Given the description of an element on the screen output the (x, y) to click on. 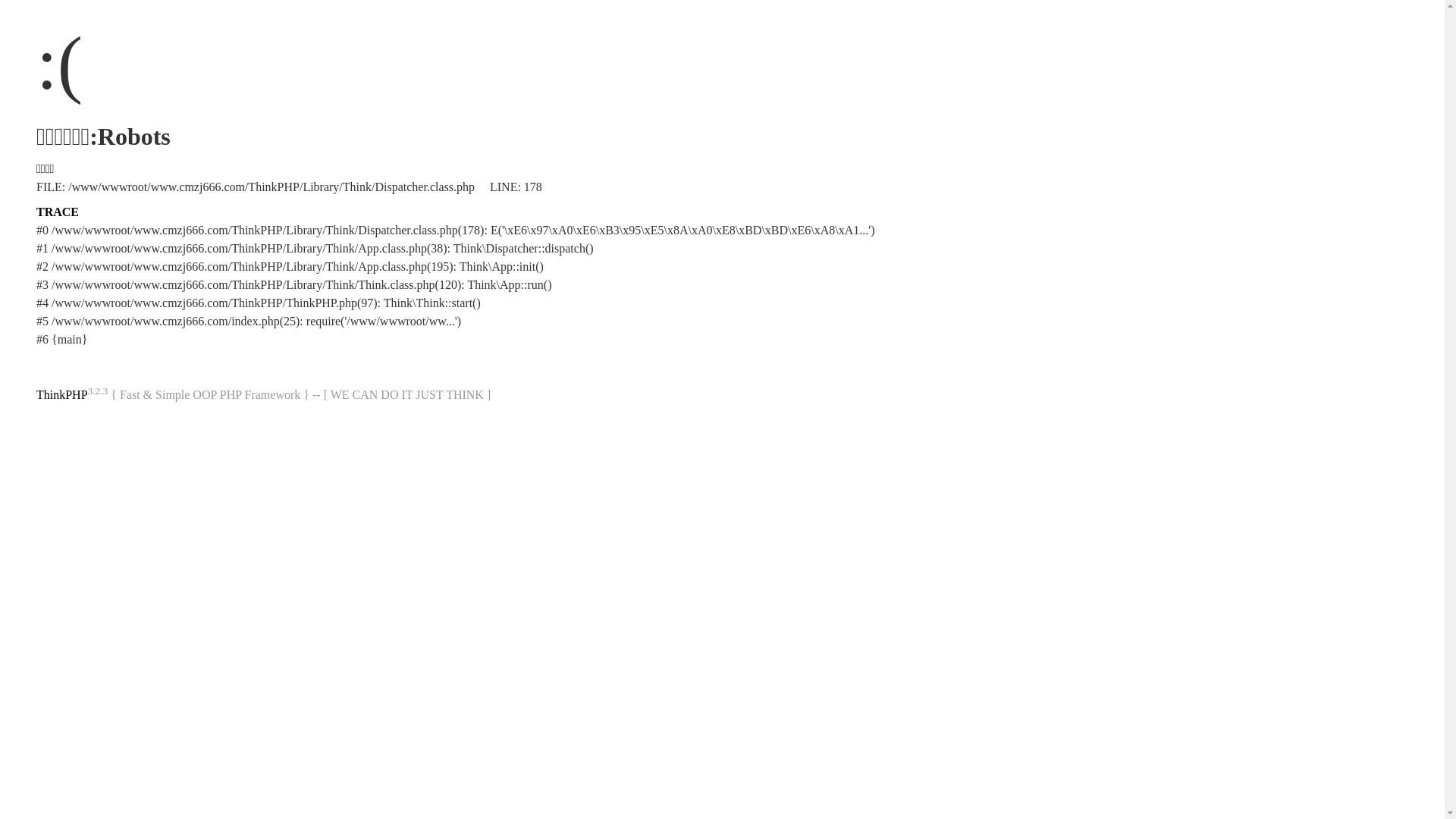
ThinkPHP Element type: text (61, 394)
